Given the description of an element on the screen output the (x, y) to click on. 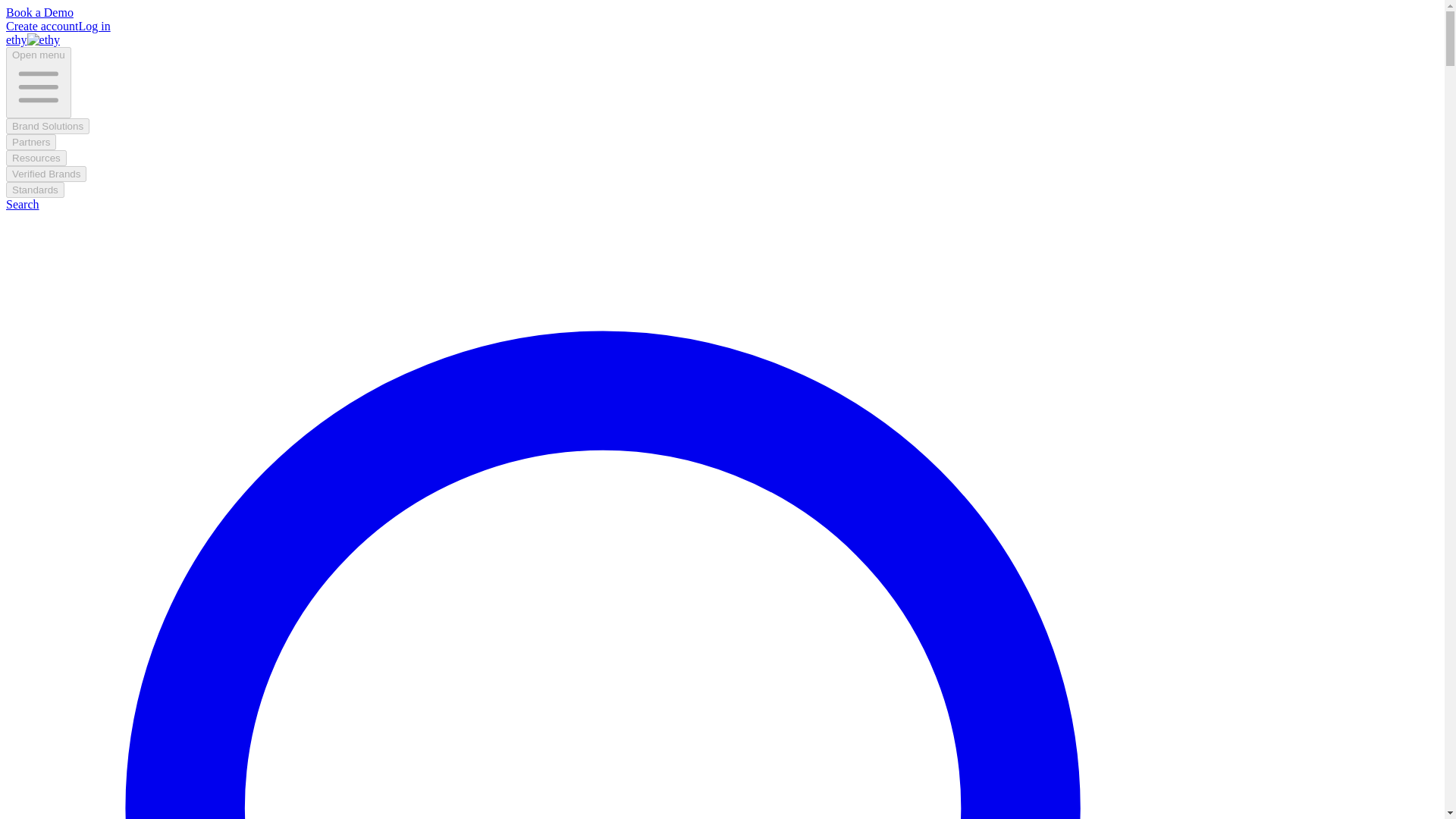
Resources (35, 157)
Open menu (38, 81)
Brand Solutions (46, 125)
Create account (41, 25)
Standards (34, 189)
ethy (32, 39)
Log in (94, 25)
Book a Demo (39, 11)
Verified Brands (45, 173)
Partners (30, 141)
